Given the description of an element on the screen output the (x, y) to click on. 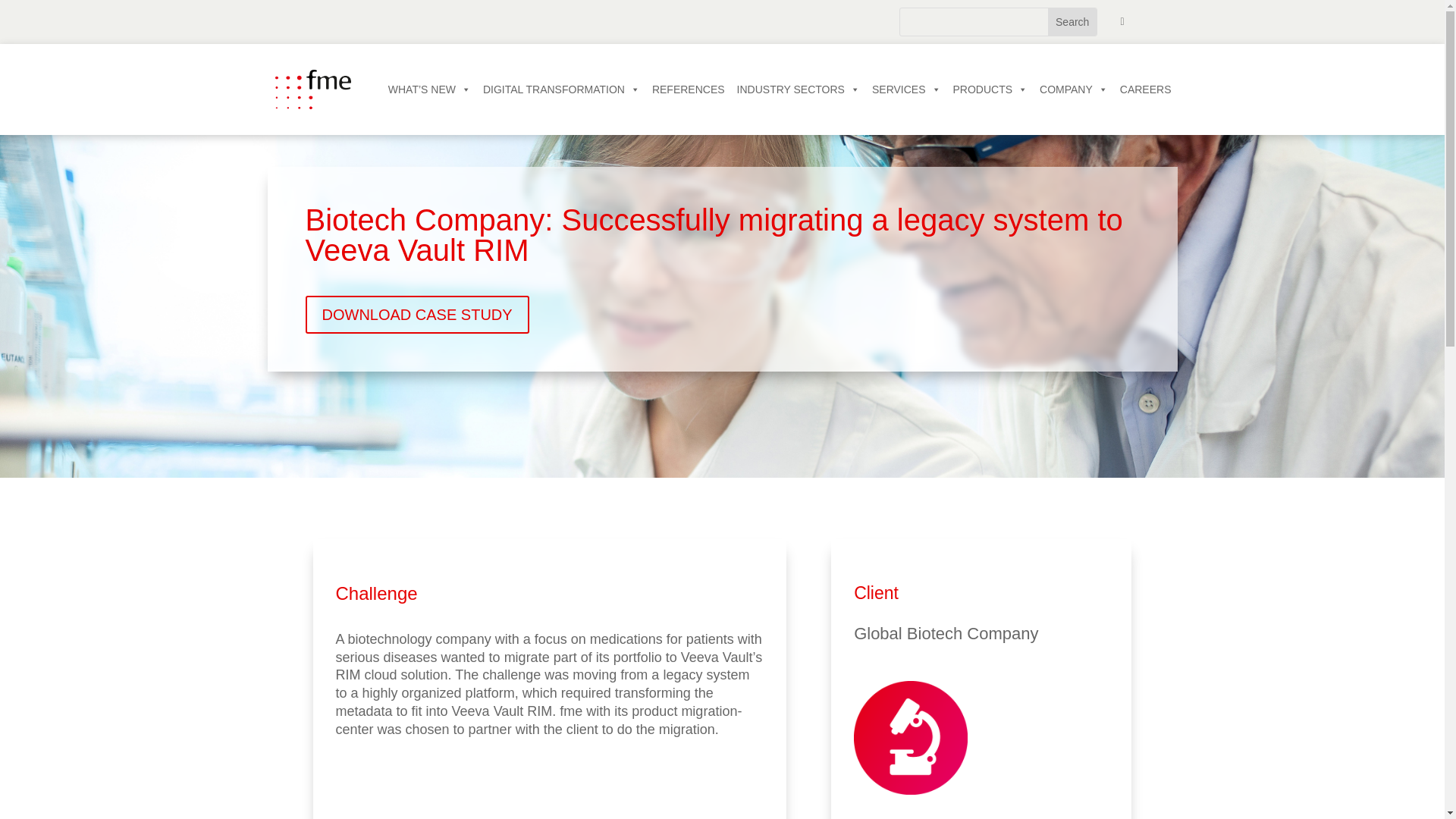
REFERENCES (688, 88)
DIGITAL TRANSFORMATION (561, 88)
Search (1072, 22)
INDUSTRY SECTORS (798, 88)
Search (1072, 22)
Search (1072, 22)
fme-Logo (312, 89)
PRODUCTS (989, 88)
SERVICES (906, 88)
